Given the description of an element on the screen output the (x, y) to click on. 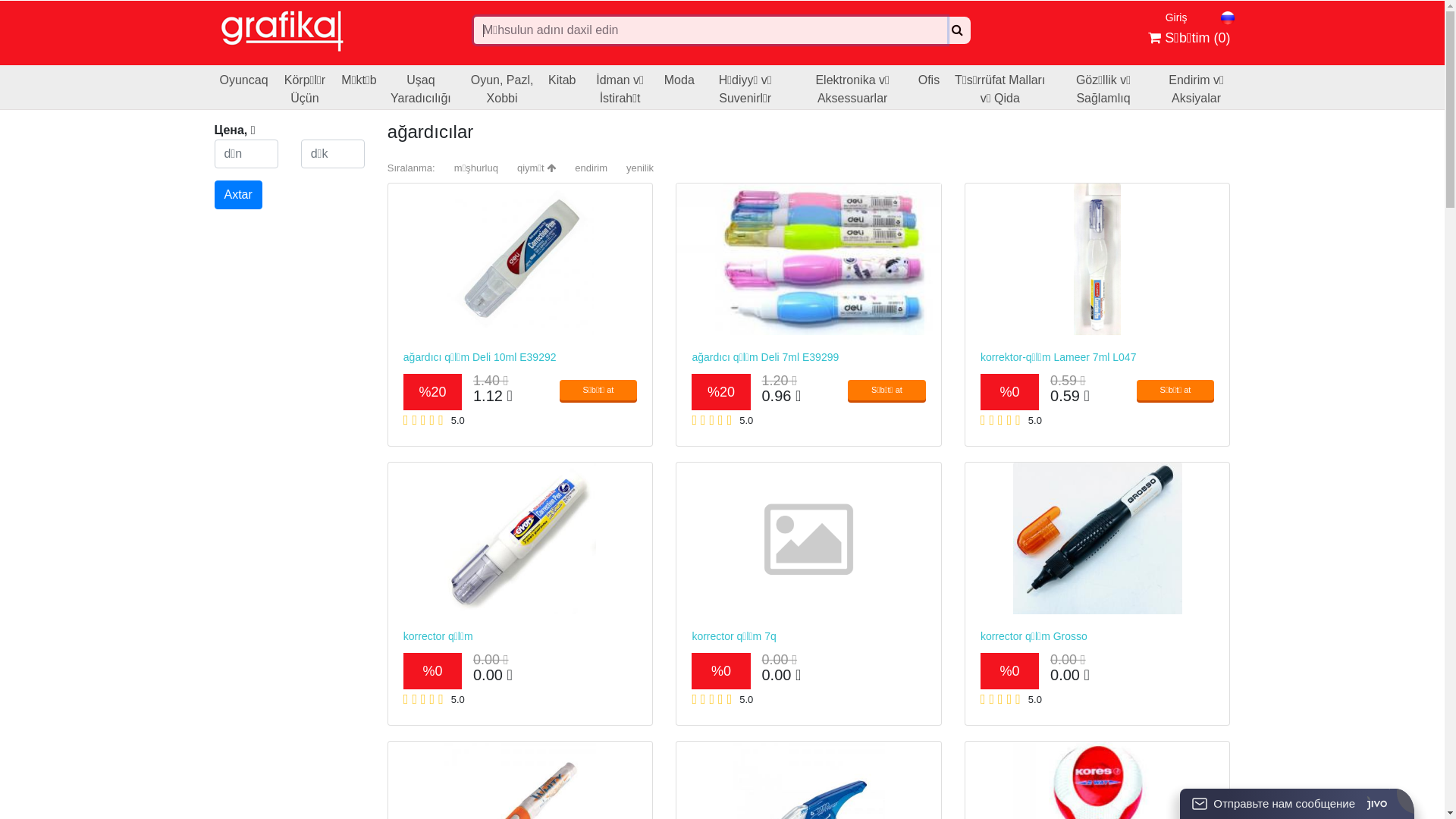
endirim Element type: text (590, 167)
Axtar Element type: text (237, 194)
Moda Element type: text (679, 87)
Oyuncaq Element type: text (244, 87)
yenilik Element type: text (639, 167)
Oyun, Pazl, Xobbi Element type: text (501, 87)
Ofis Element type: text (928, 87)
Kitab Element type: text (561, 87)
